Given the description of an element on the screen output the (x, y) to click on. 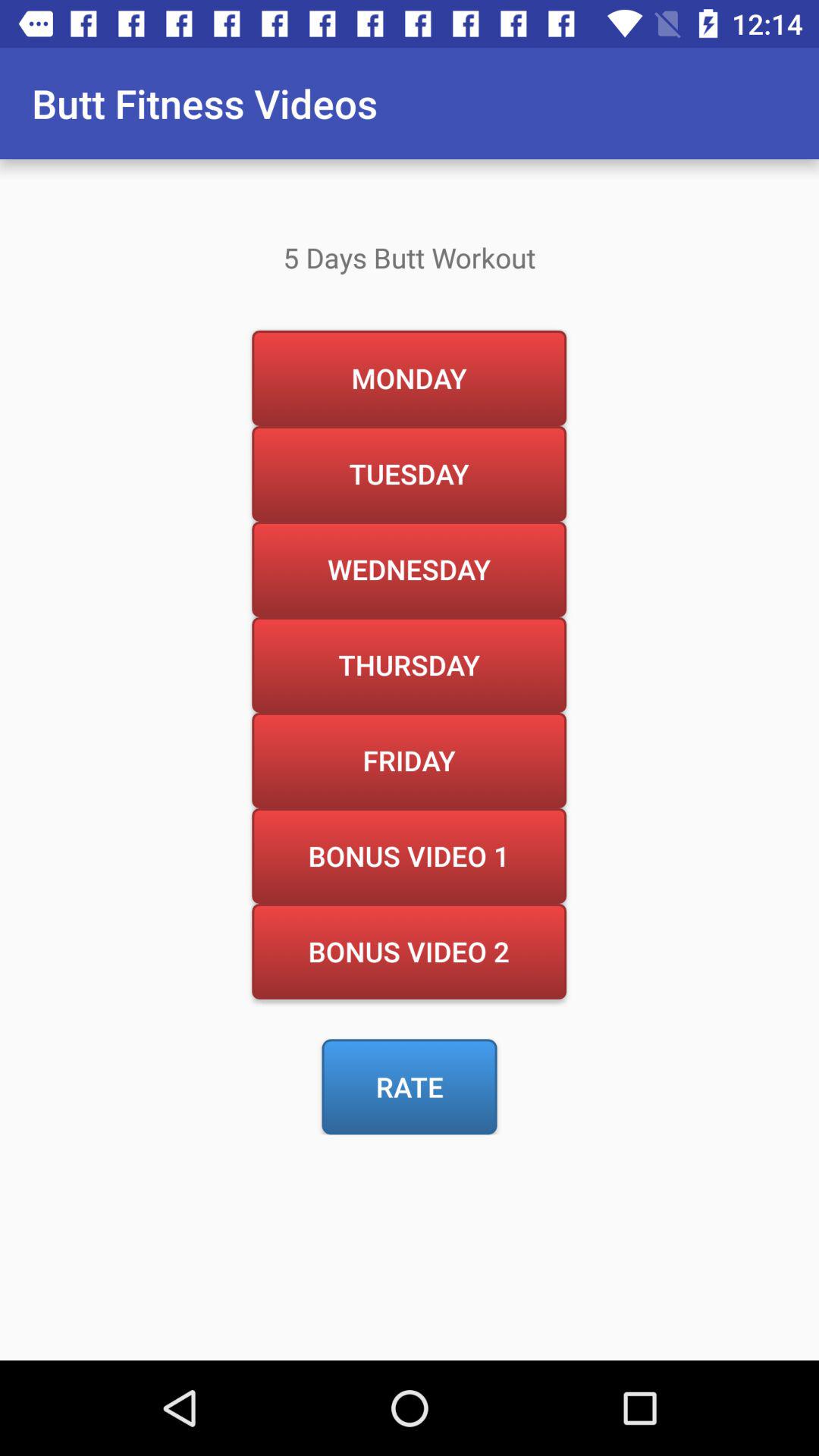
open friday icon (408, 760)
